Given the description of an element on the screen output the (x, y) to click on. 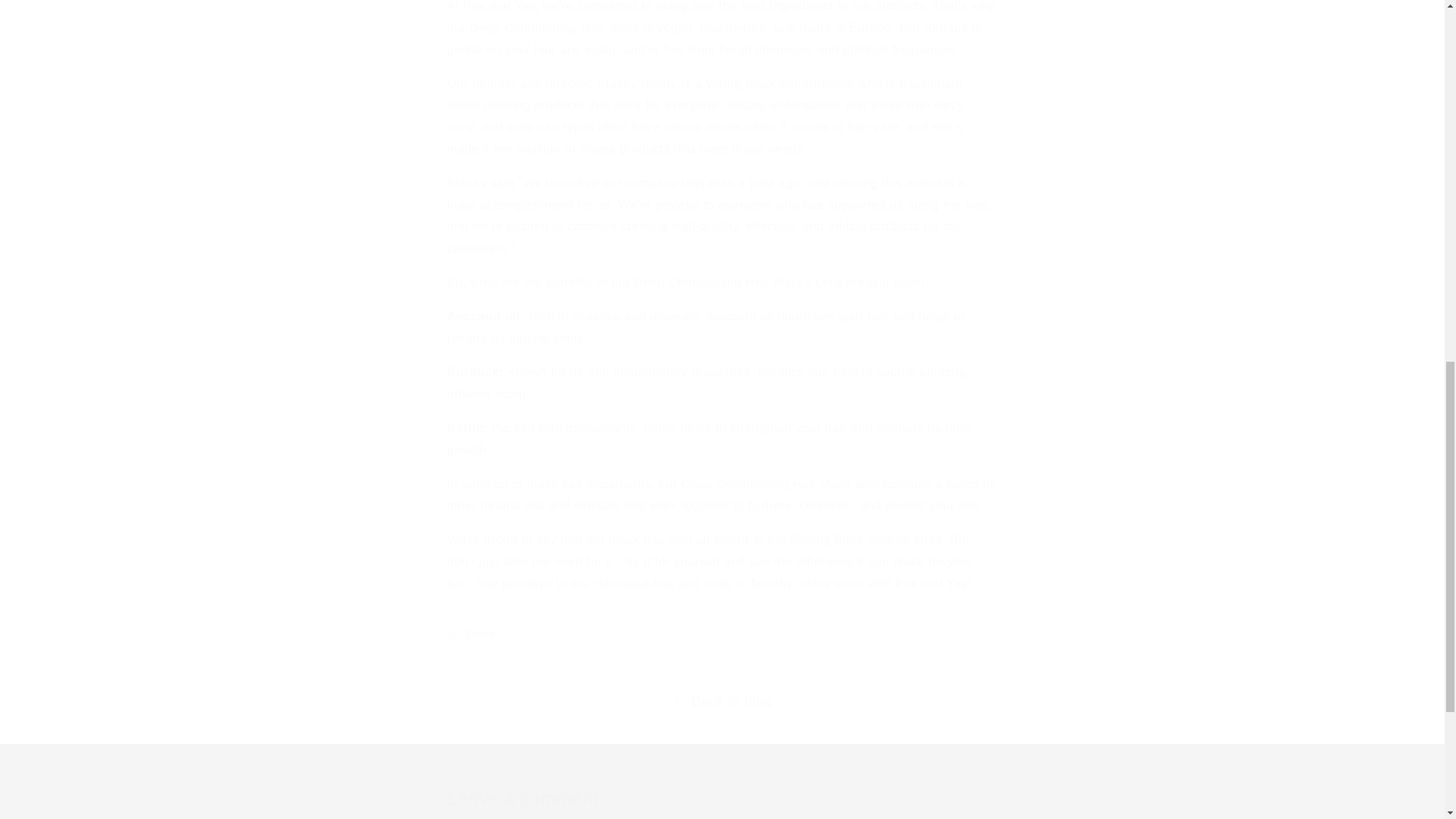
Share (721, 634)
Beauty Bible Awards 2023 (866, 539)
Deep Conditioning Hair Mask (553, 27)
Deep Conditioning Hair Mask (765, 483)
